Given the description of an element on the screen output the (x, y) to click on. 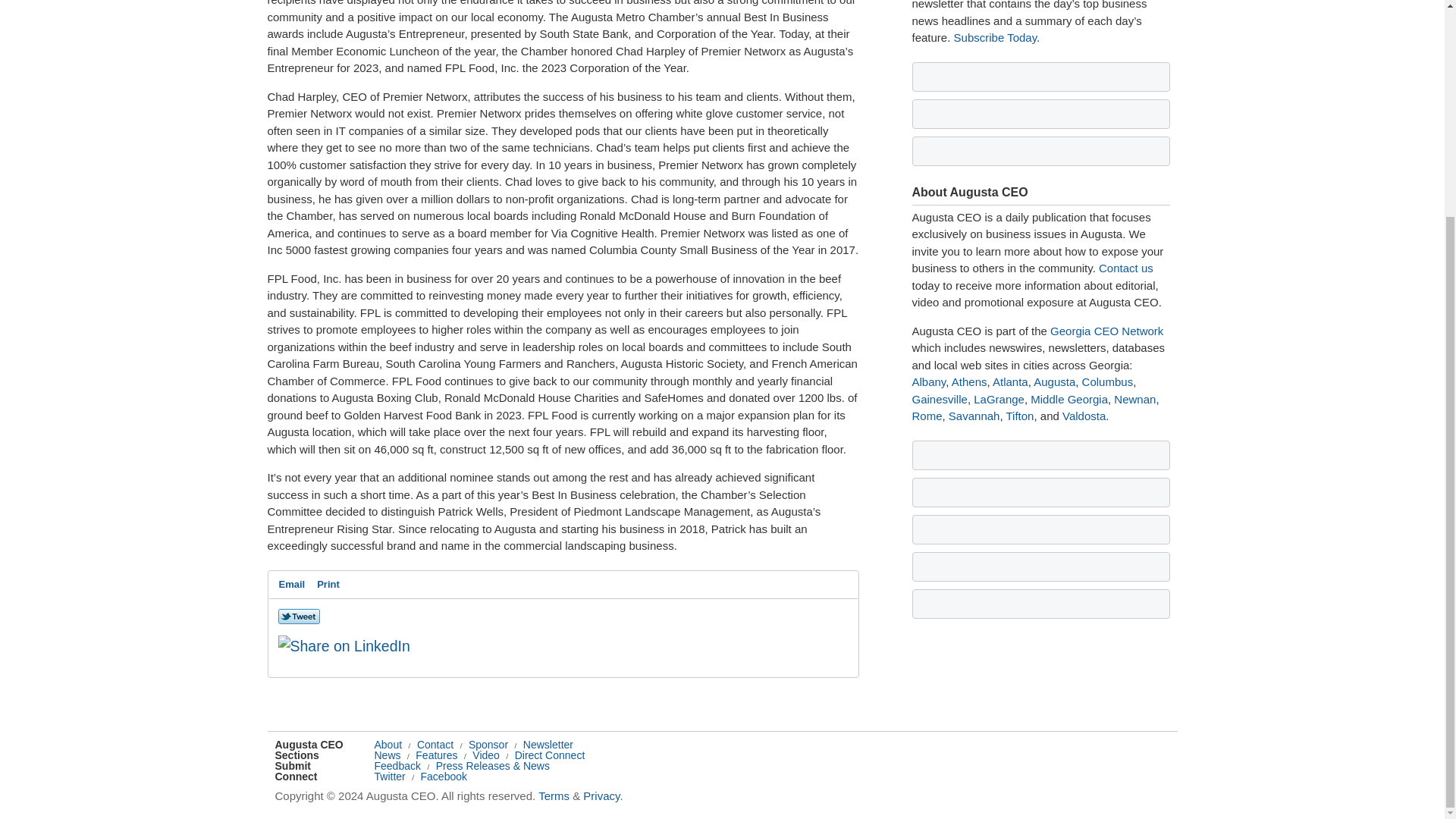
Print (328, 584)
Email (292, 584)
Contact us (1126, 267)
Georgia CEO Network (1106, 330)
Albany (927, 381)
Subscribe Today (994, 37)
